Given the description of an element on the screen output the (x, y) to click on. 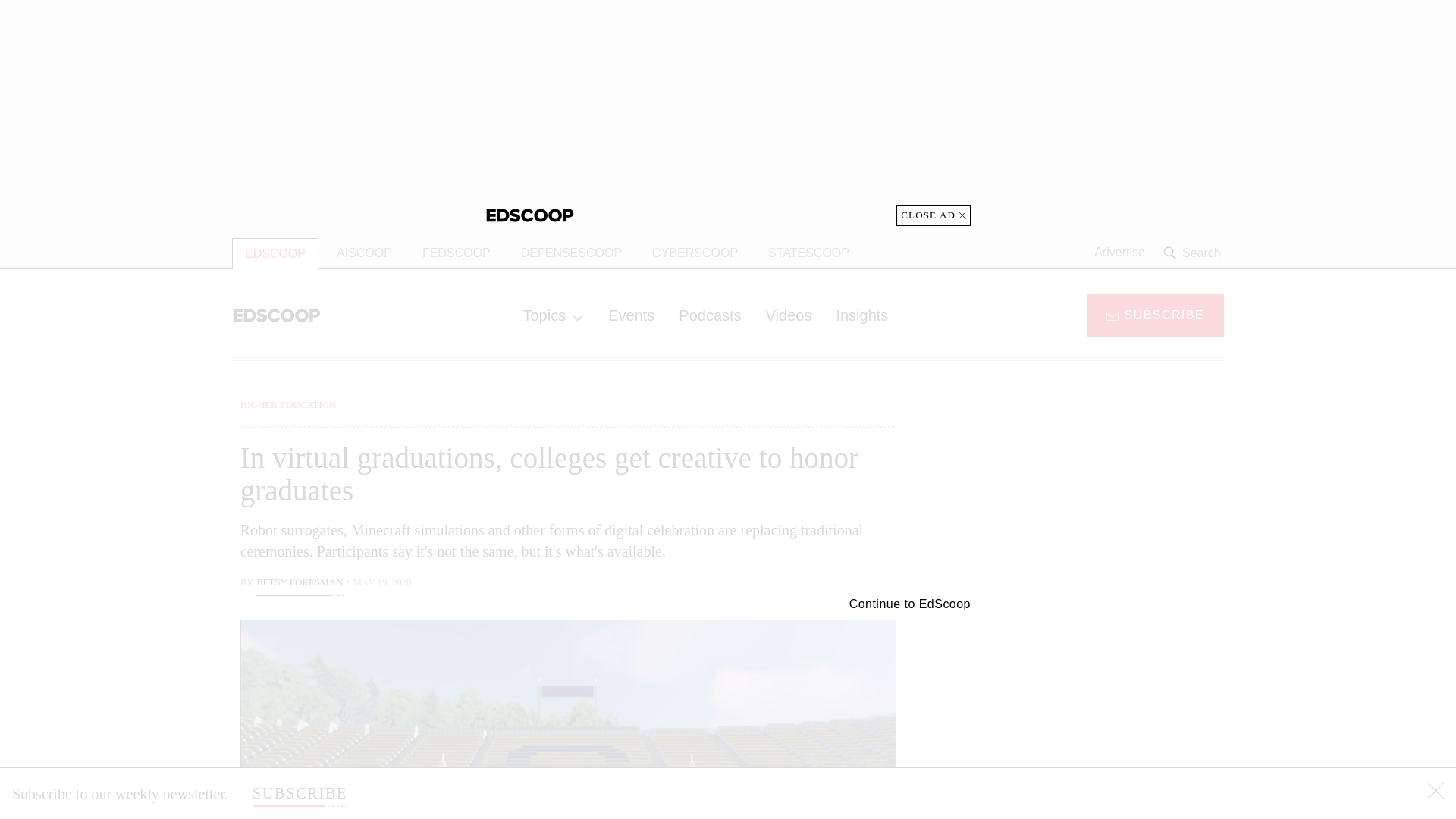
Videos (789, 315)
HIGHER EDUCATION (288, 404)
BETSY FORESMAN (299, 583)
Advertise (1119, 252)
DEFENSESCOOP (570, 253)
Insights (861, 315)
EDSCOOP (274, 253)
AISCOOP (364, 253)
Search (1193, 252)
SUBSCRIBE (1155, 314)
3rd party ad content (1101, 492)
Betsy Foresman (299, 583)
